Given the description of an element on the screen output the (x, y) to click on. 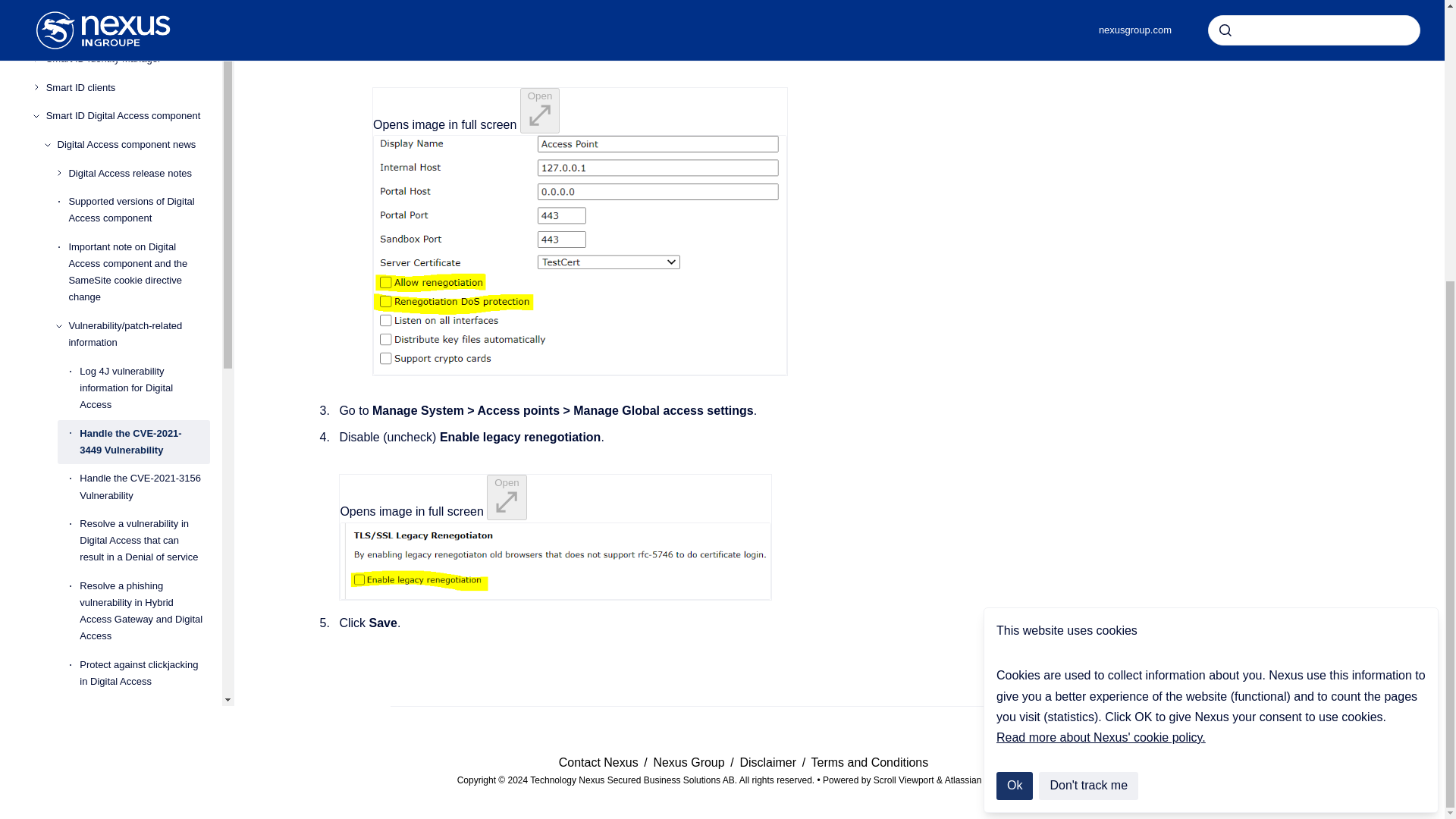
Digital Access component overview (133, 456)
Handle the CVE-2021-3449 Vulnerability (144, 135)
Protect against clickjacking in Digital Access (144, 365)
Read more about Nexus' cookie policy. (1100, 316)
Deploy Digital Access component (133, 547)
Digital Access component requirements and interoperability (133, 502)
Handle the CVE-2021-3156 Vulnerability (144, 180)
Ok (1013, 365)
